Given the description of an element on the screen output the (x, y) to click on. 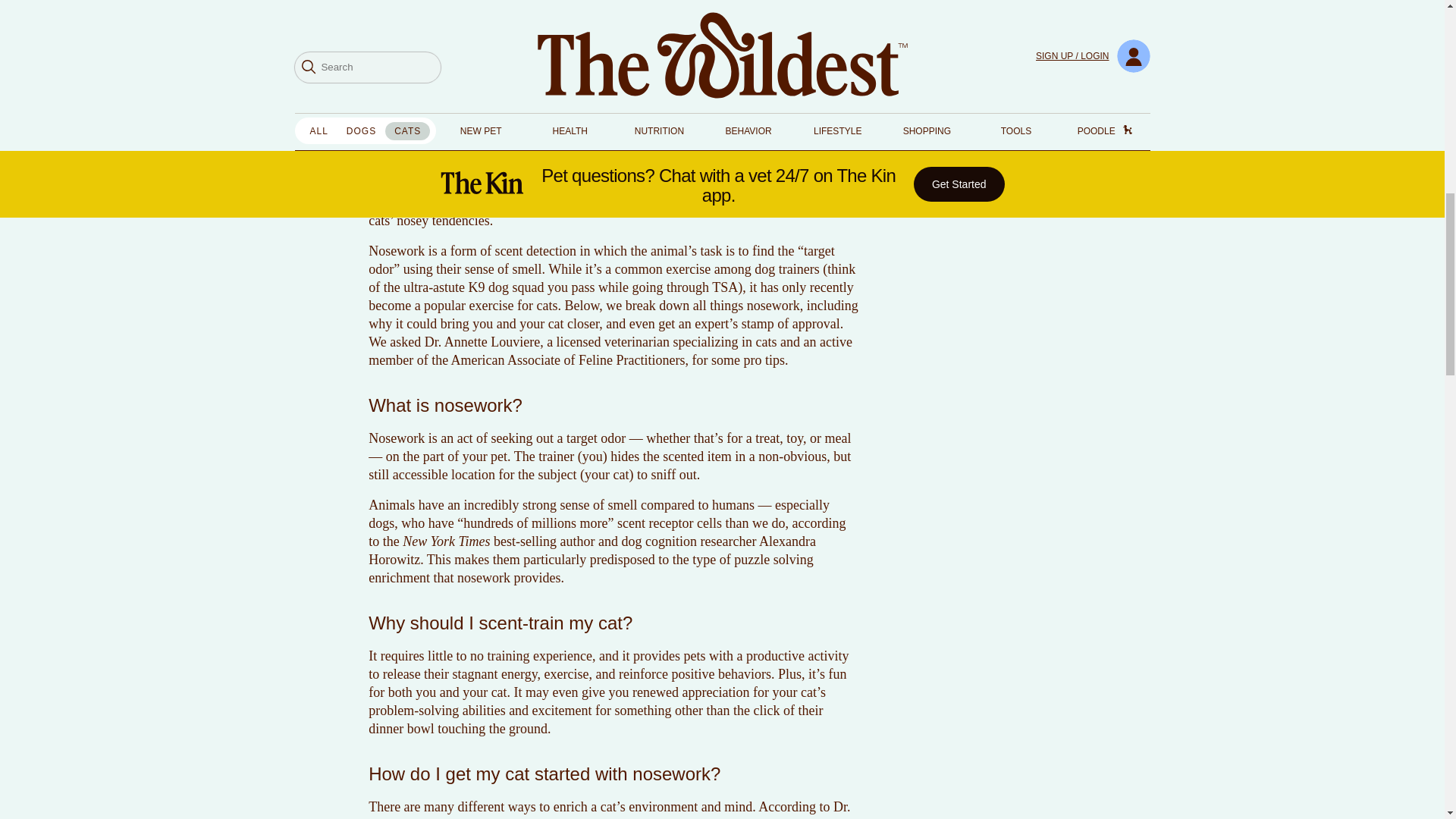
Pinterest (996, 188)
Facebook (954, 188)
Twitter (911, 188)
Email (1039, 188)
